Given the description of an element on the screen output the (x, y) to click on. 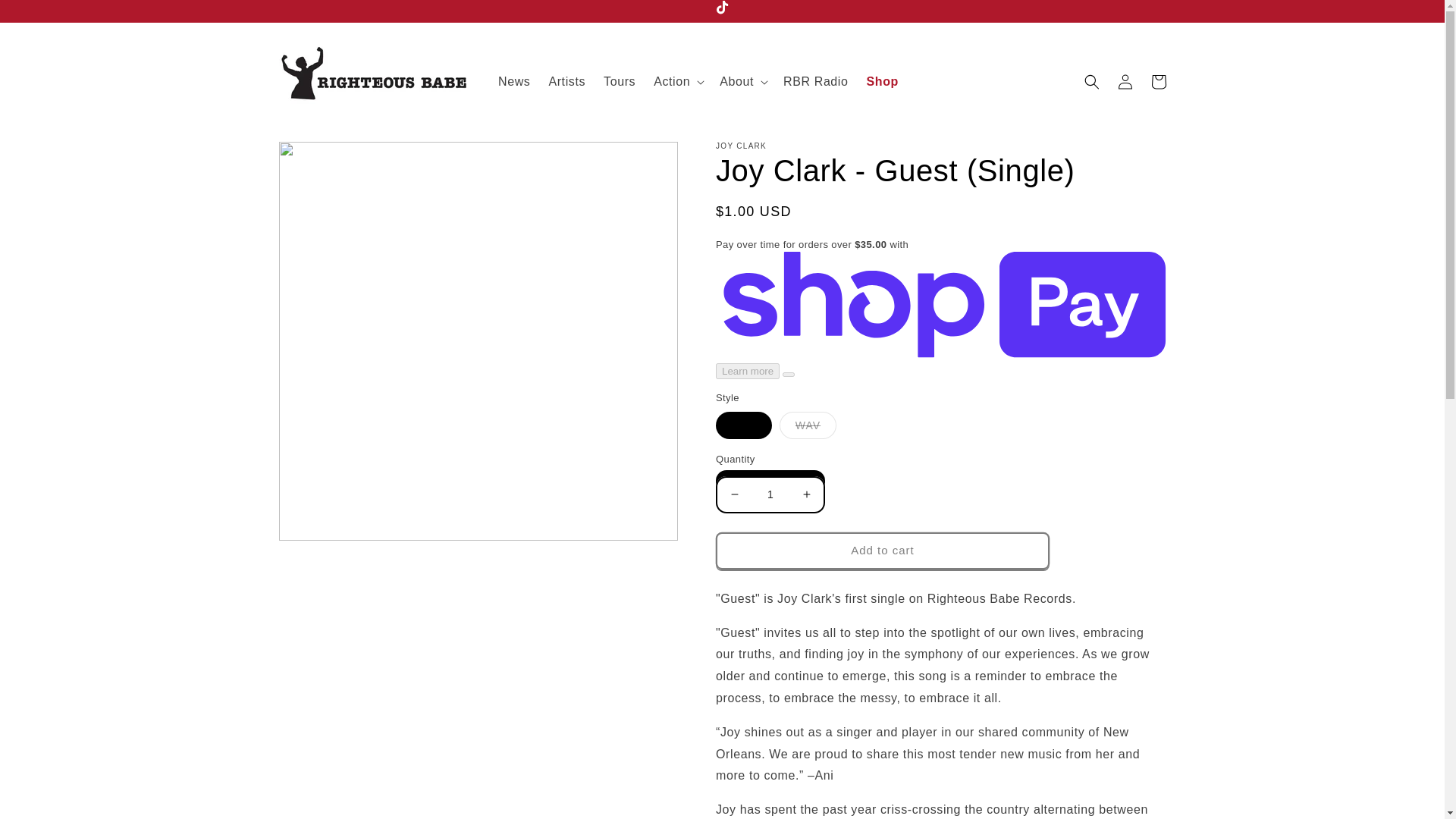
Tours (619, 82)
Artists (566, 82)
1 (770, 494)
Skip to content (46, 18)
News (513, 82)
